Given the description of an element on the screen output the (x, y) to click on. 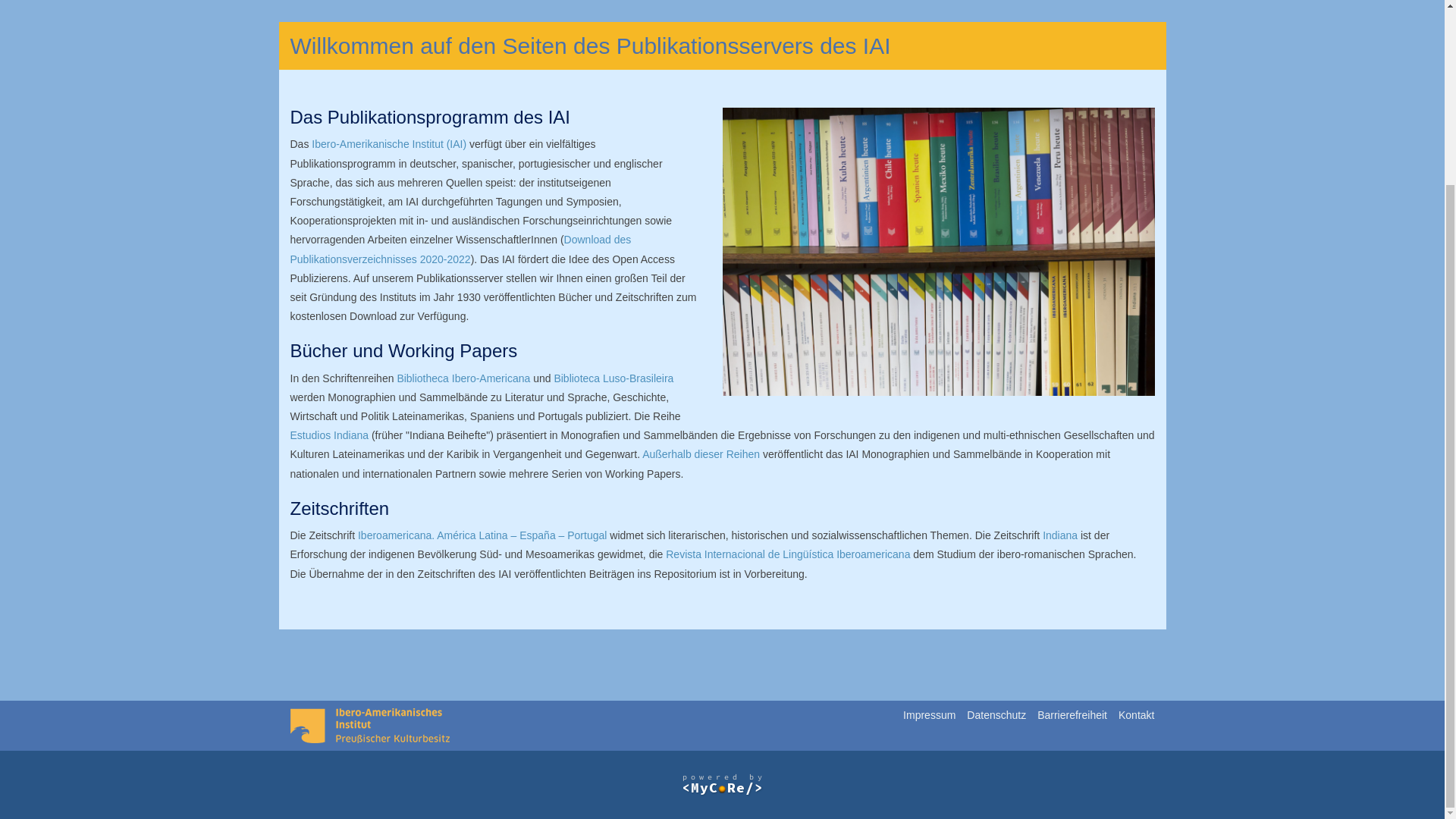
Impressum (928, 715)
Bibliotheca Ibero-Americana (462, 378)
Estudios Indiana (328, 435)
Indiana (1059, 535)
Datenschutz (996, 715)
Kontakt (1136, 715)
Download des Publikationsverzeichnisses 2020-2022 (459, 248)
Barrierefreiheit (1071, 715)
Zum Ibero-Amerikanischen Institut (368, 724)
Biblioteca Luso-Brasileira (612, 378)
